Given the description of an element on the screen output the (x, y) to click on. 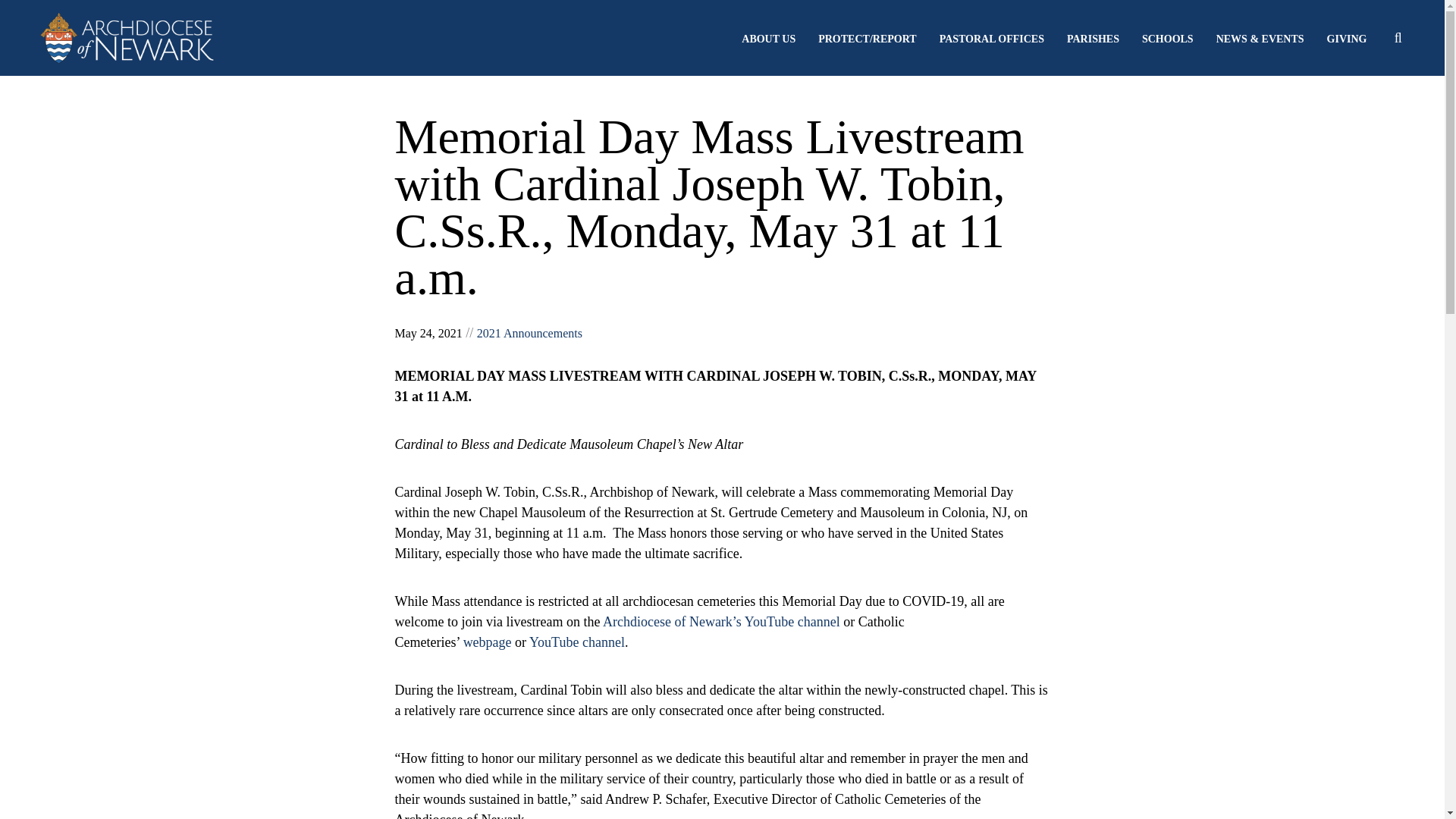
2021 Announcements (529, 332)
ABOUT US (767, 39)
PARISHES (1093, 39)
PASTORAL OFFICES (991, 39)
YouTube channel (576, 642)
webpage (487, 642)
GIVING (1346, 39)
SCHOOLS (1167, 39)
